Given the description of an element on the screen output the (x, y) to click on. 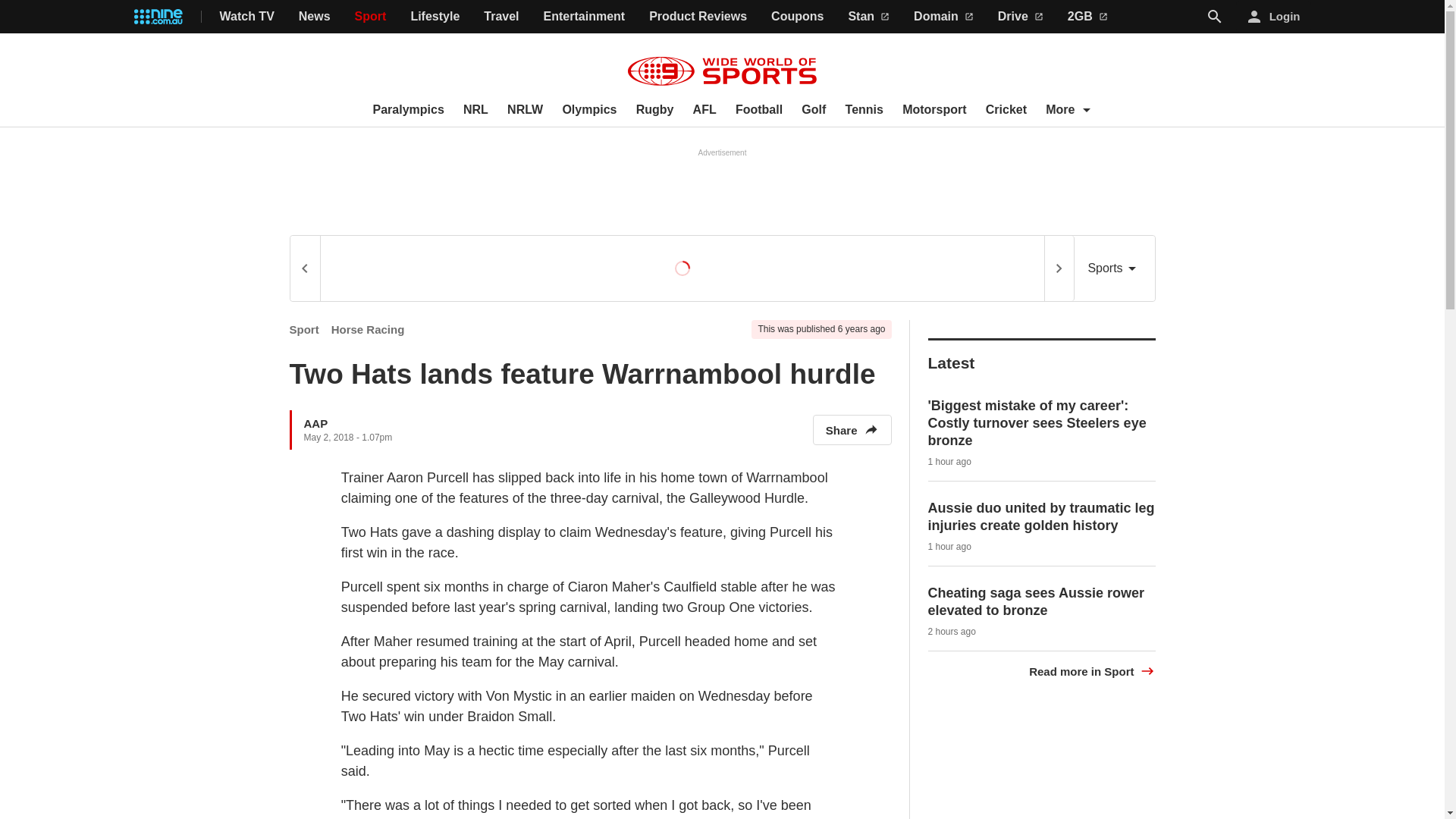
Lifestyle (435, 16)
Drive (1020, 16)
Product Reviews (697, 16)
Football (759, 109)
Search (1214, 16)
dropDown (1086, 109)
Sport (371, 16)
NRLW (524, 109)
2GB (1087, 16)
Golf (812, 109)
